Given the description of an element on the screen output the (x, y) to click on. 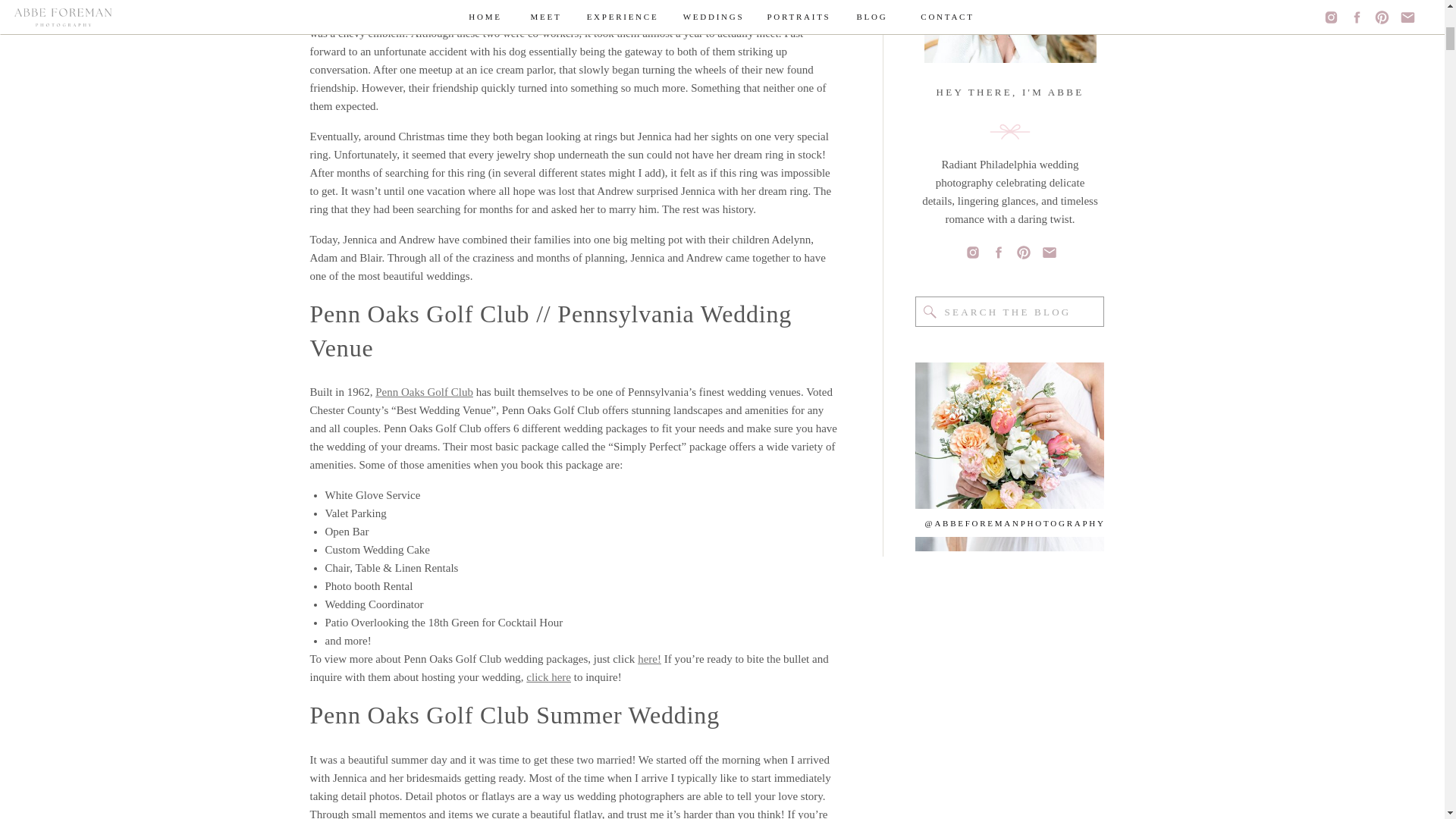
Penn Oaks Golf Club (424, 391)
click here (547, 676)
here! (649, 658)
